Given the description of an element on the screen output the (x, y) to click on. 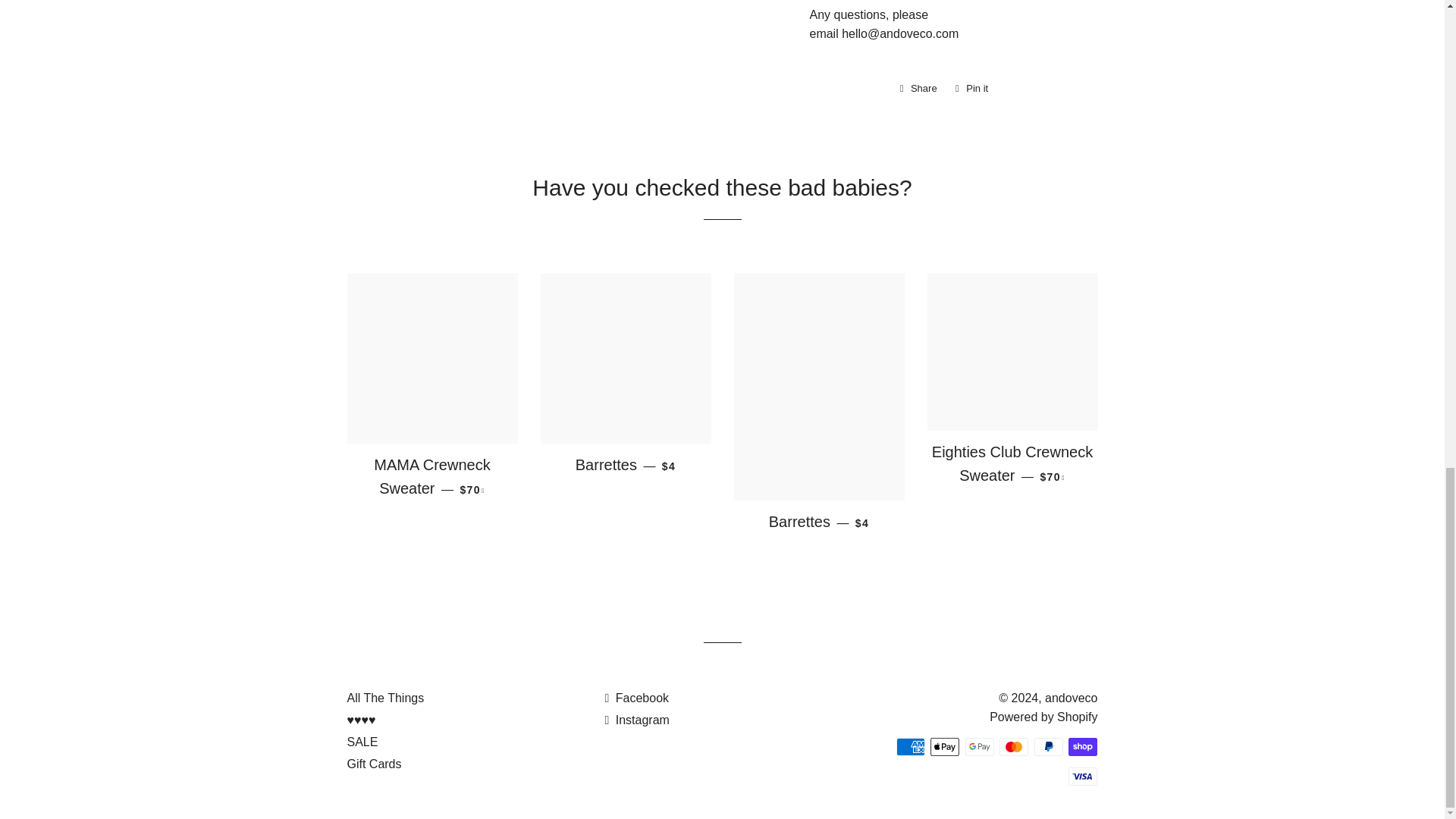
Share on Facebook (918, 87)
Visa (1082, 776)
PayPal (1047, 746)
Shop Pay (1082, 746)
Google Pay (979, 746)
American Express (910, 746)
andoveco on Facebook (636, 697)
Apple Pay (944, 746)
Pin on Pinterest (971, 87)
Mastercard (1012, 746)
